Given the description of an element on the screen output the (x, y) to click on. 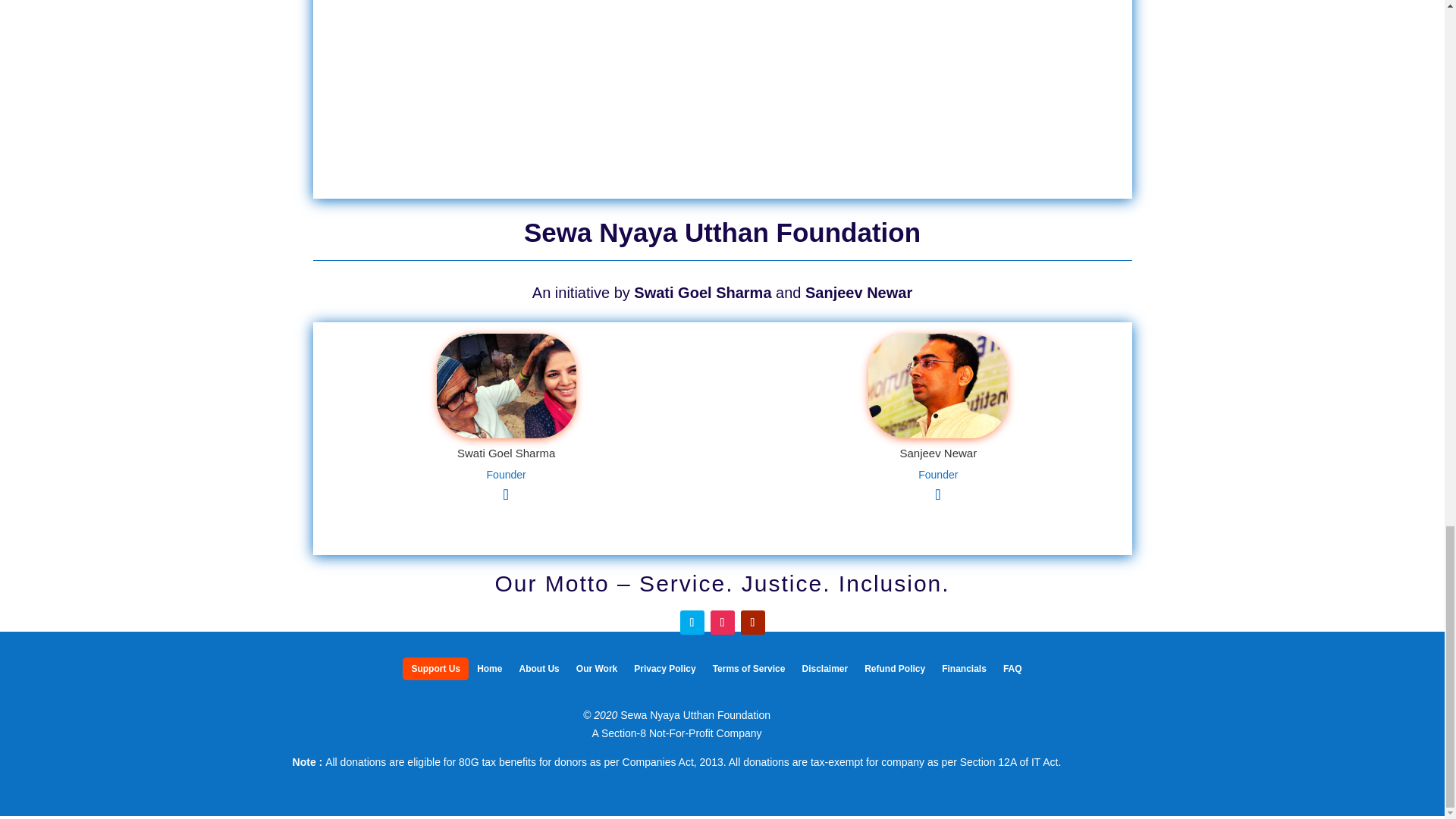
Follow on Youtube (751, 622)
Follow on Twitter (691, 622)
Follow on Instagram (721, 622)
